Given the description of an element on the screen output the (x, y) to click on. 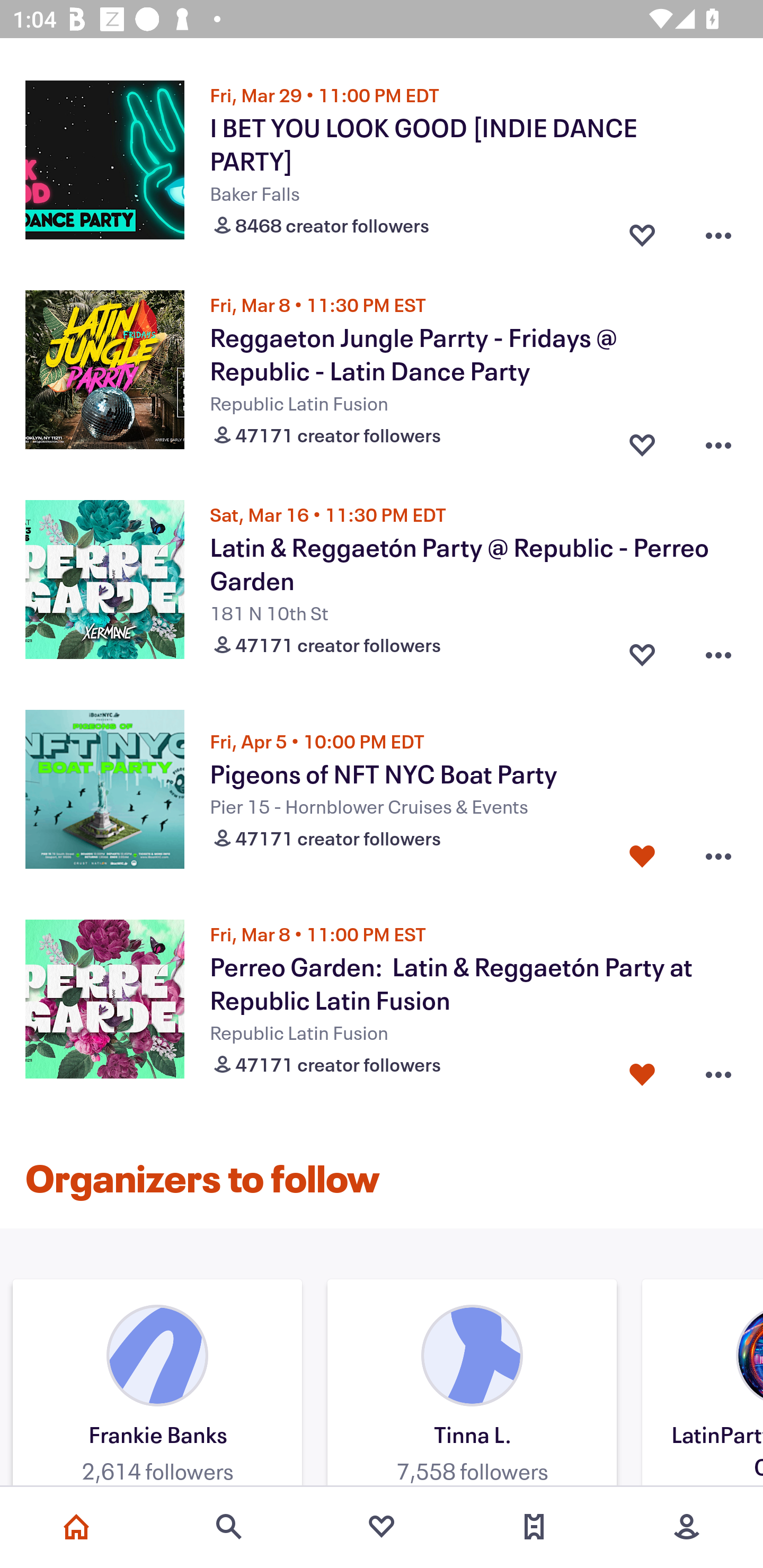
Favorite button (642, 230)
Overflow menu button (718, 230)
Favorite button (642, 441)
Overflow menu button (718, 441)
Favorite button (642, 650)
Overflow menu button (718, 650)
Favorite button (642, 855)
Overflow menu button (718, 855)
Favorite button (642, 1069)
Overflow menu button (718, 1069)
Organizer's image Frankie Banks 2,614 followers (157, 1385)
Organizer's image Tinna L. 7,558 followers (471, 1385)
Home (76, 1526)
Search events (228, 1526)
Favorites (381, 1526)
Tickets (533, 1526)
More (686, 1526)
